Given the description of an element on the screen output the (x, y) to click on. 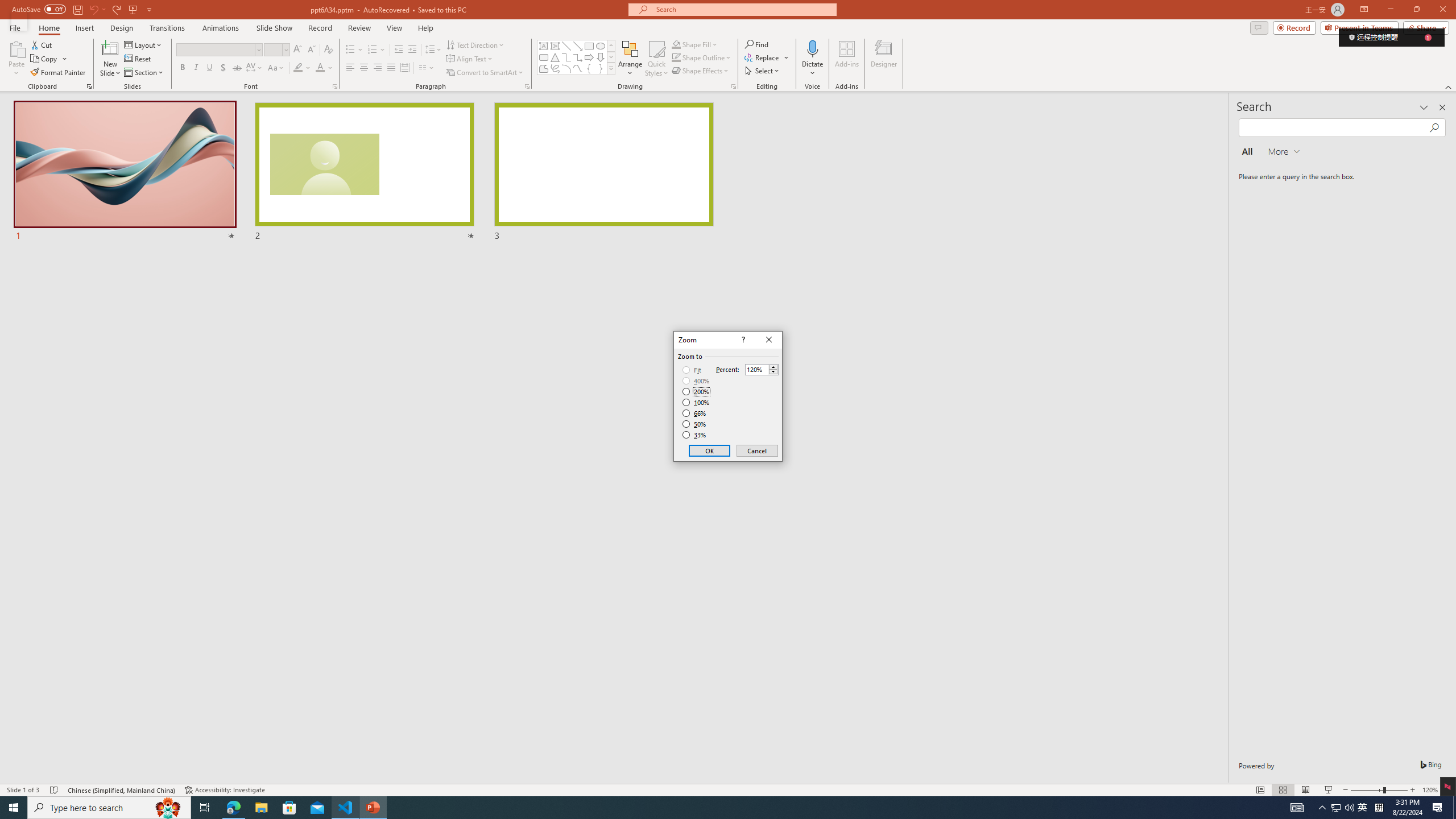
Line Spacing (433, 49)
Text Direction (476, 44)
Shape Fill (694, 44)
Text Highlight Color (297, 67)
Increase Font Size (297, 49)
Convert to SmartArt (485, 72)
Office Clipboard... (88, 85)
User Promoted Notification Area (1342, 807)
Underline (209, 67)
Italic (195, 67)
Microsoft Store (289, 807)
Decrease Indent (398, 49)
OK (709, 450)
